Given the description of an element on the screen output the (x, y) to click on. 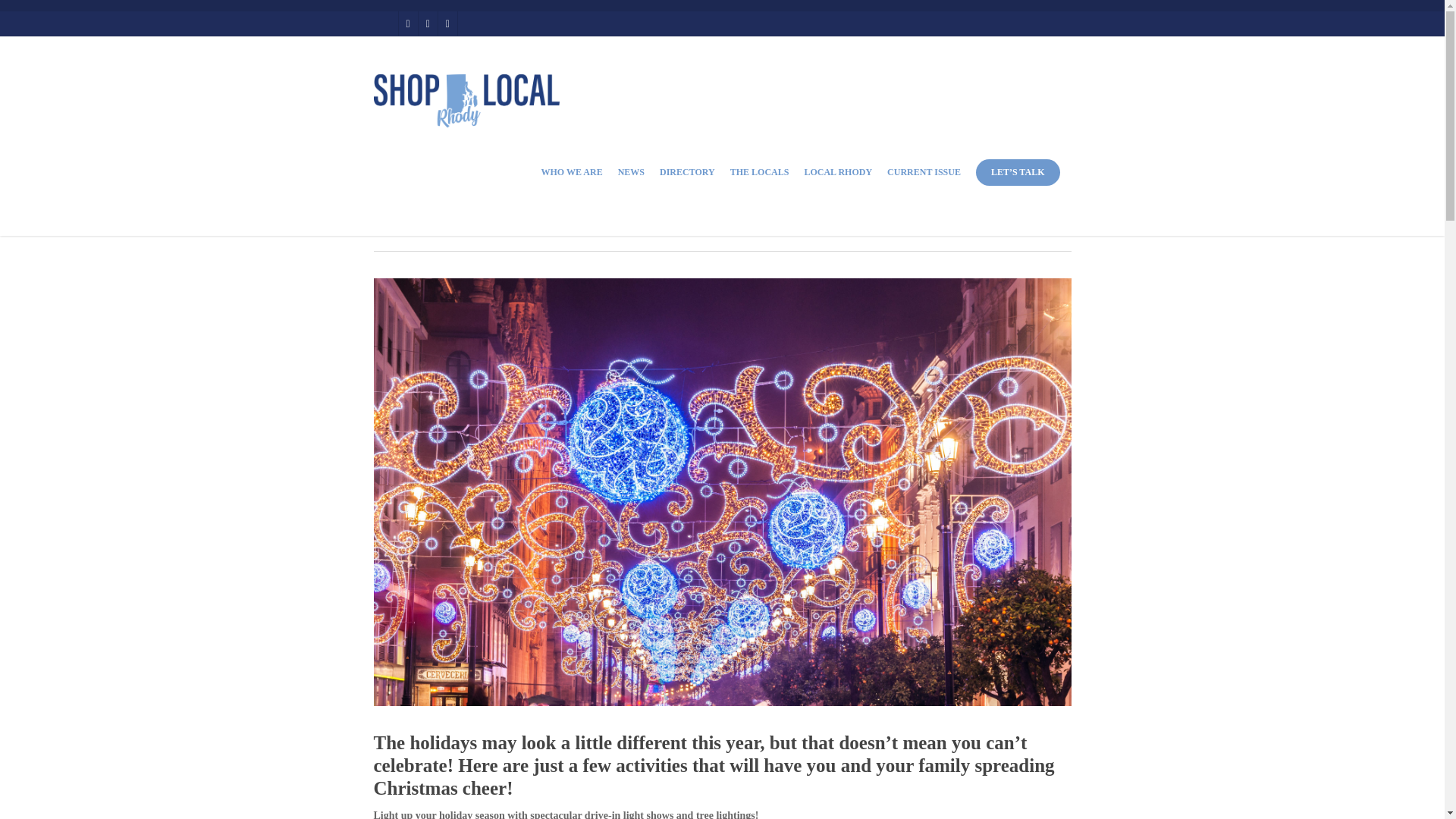
Love this (992, 212)
